Given the description of an element on the screen output the (x, y) to click on. 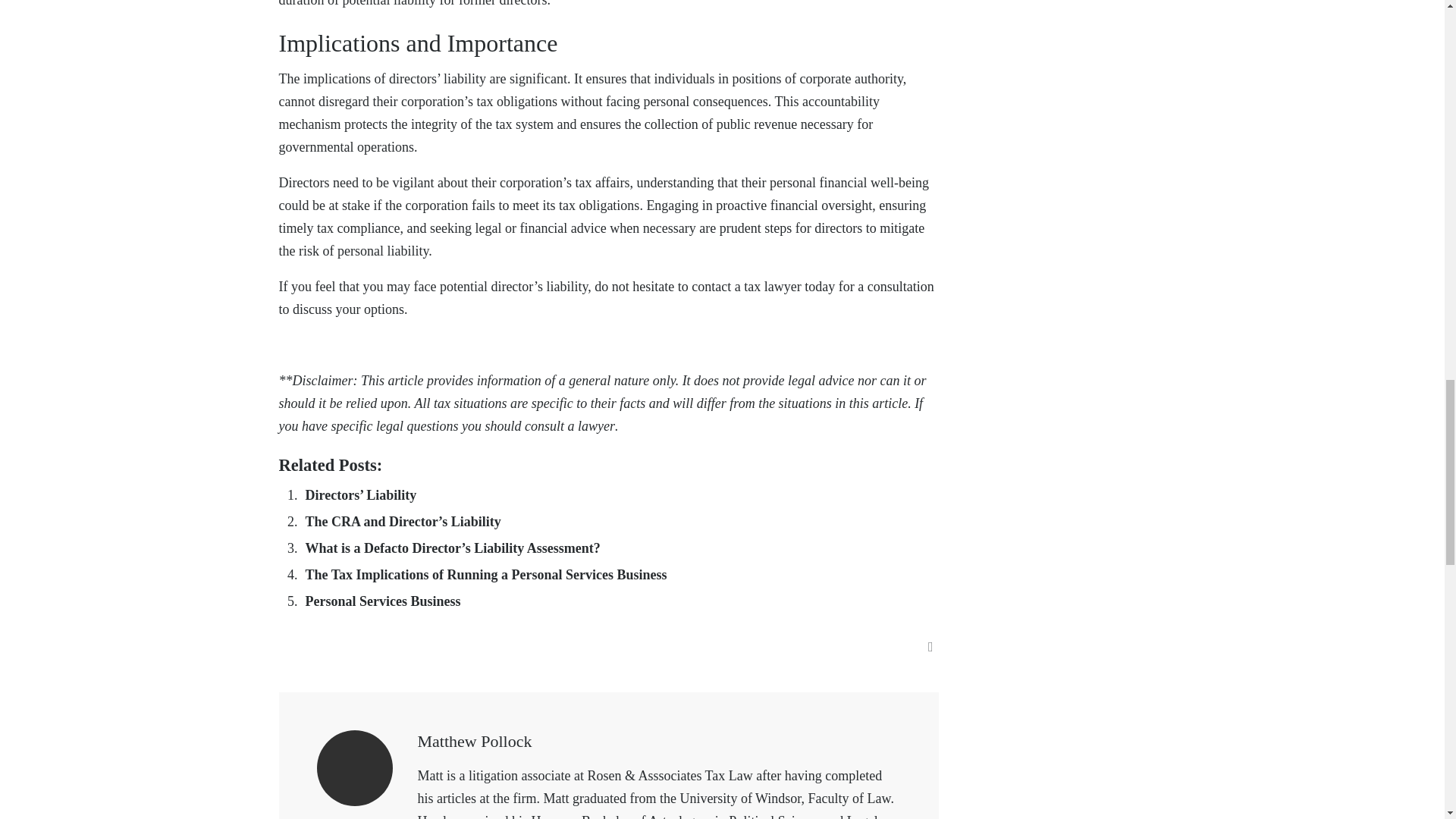
The Tax Implications of Running a Personal Services Business (485, 574)
Personal Services Business (382, 601)
